Given the description of an element on the screen output the (x, y) to click on. 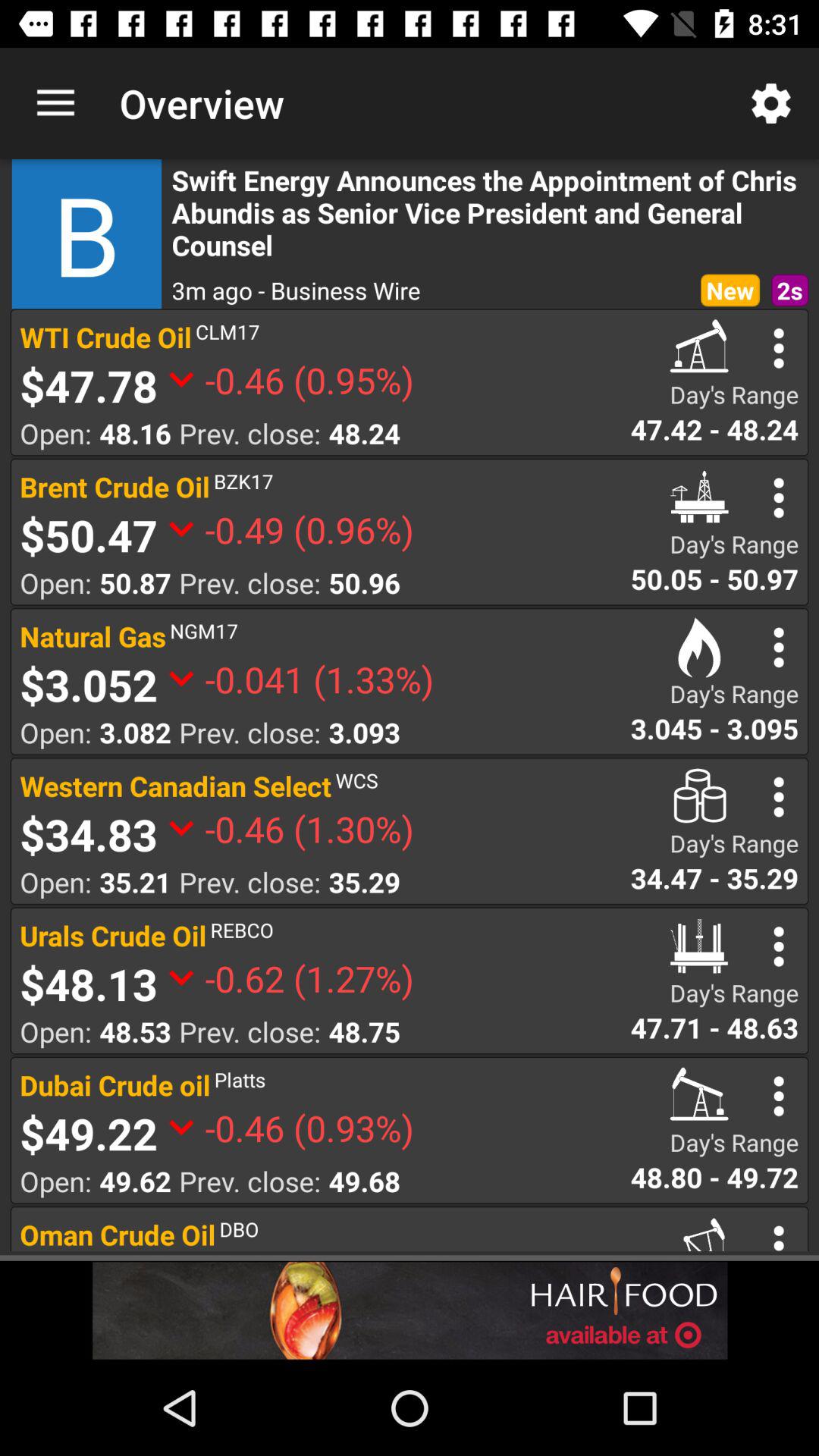
go to setting (778, 348)
